Given the description of an element on the screen output the (x, y) to click on. 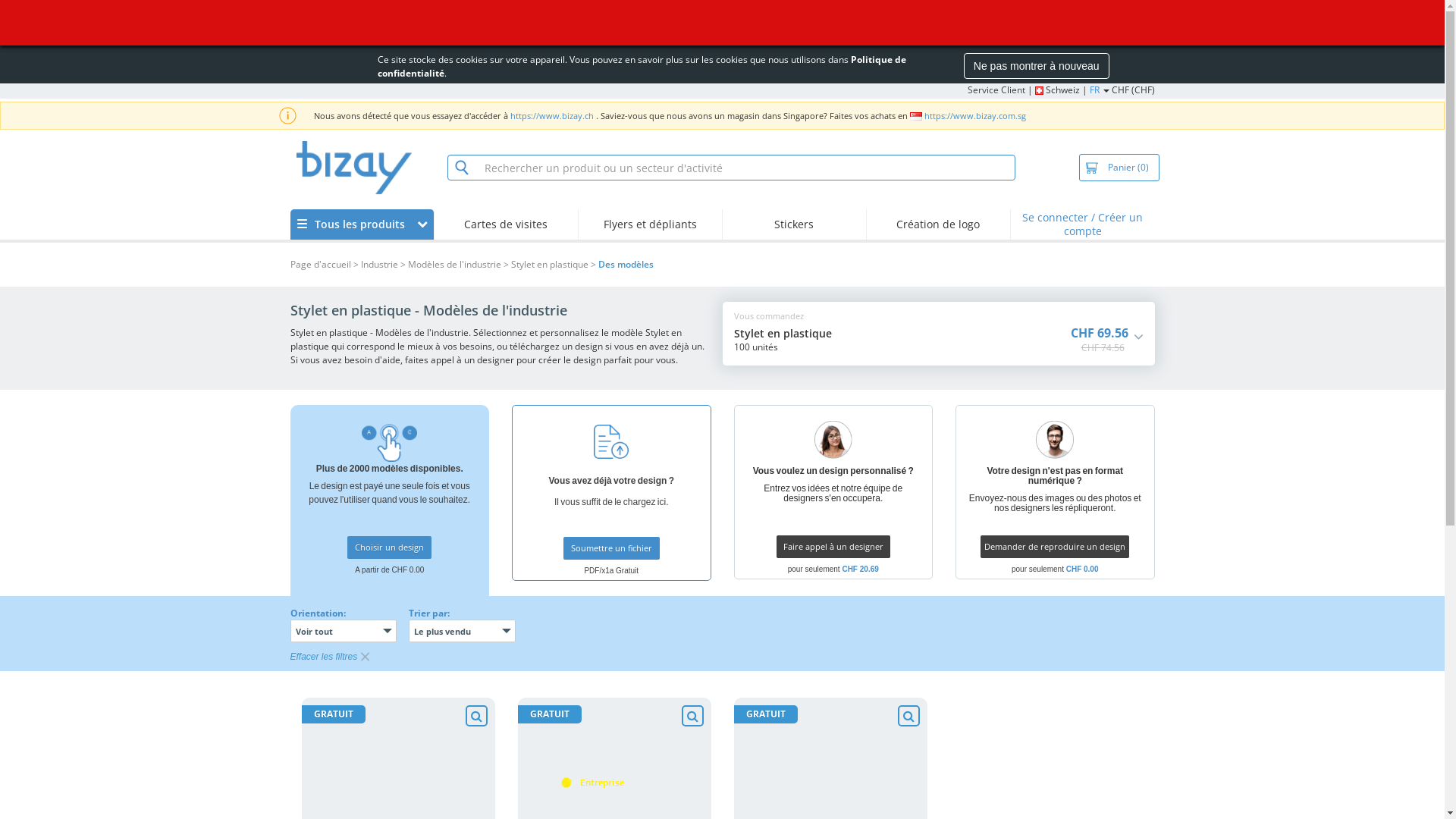
Tous les produits Element type: text (361, 224)
Service Client Element type: text (996, 89)
Panier (0) Element type: text (1119, 167)
Page d'accueil Element type: text (319, 264)
https://www.bizay.ch Element type: text (552, 114)
Industrie Element type: text (379, 264)
https://www.bizay.com.sg Element type: text (974, 114)
Cartes de visites Element type: text (505, 223)
Stylet en plastique Element type: text (549, 264)
Stickers Element type: text (793, 223)
